Given the description of an element on the screen output the (x, y) to click on. 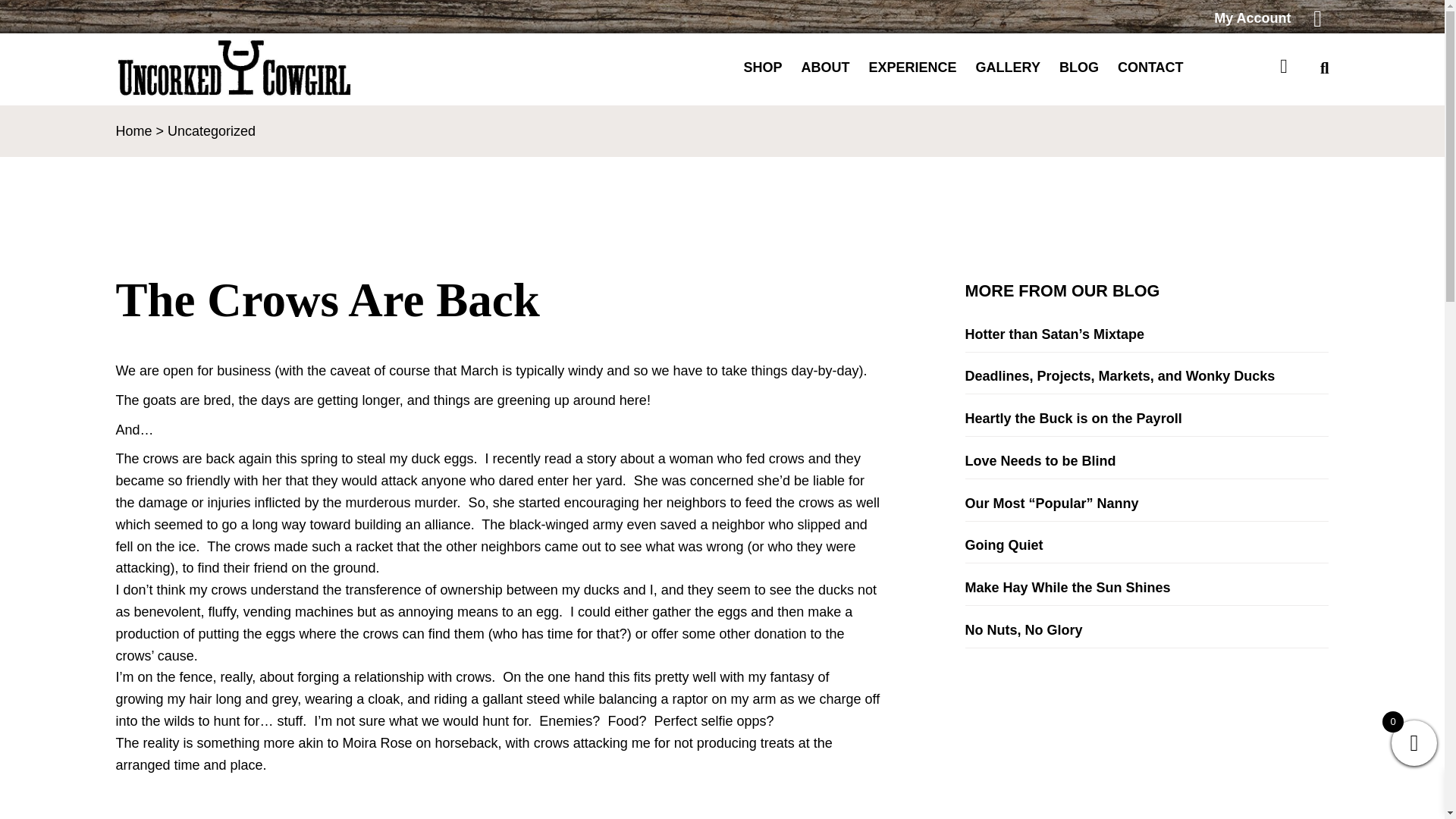
Going Quiet (1147, 545)
EXPERIENCE (912, 67)
SHOP (763, 67)
Love Needs to be Blind (1147, 461)
Deadlines, Projects, Markets, and Wonky Ducks (1147, 376)
Make Hay While the Sun Shines (1147, 587)
the crows have eyes (305, 800)
GALLERY (1008, 67)
No Nuts, No Glory (1147, 630)
Horizontal-Logo (236, 66)
My Account (1024, 18)
CONTACT (1150, 67)
ABOUT (826, 67)
Heartly the Buck is on the Payroll (1147, 418)
BLOG (1079, 67)
